Given the description of an element on the screen output the (x, y) to click on. 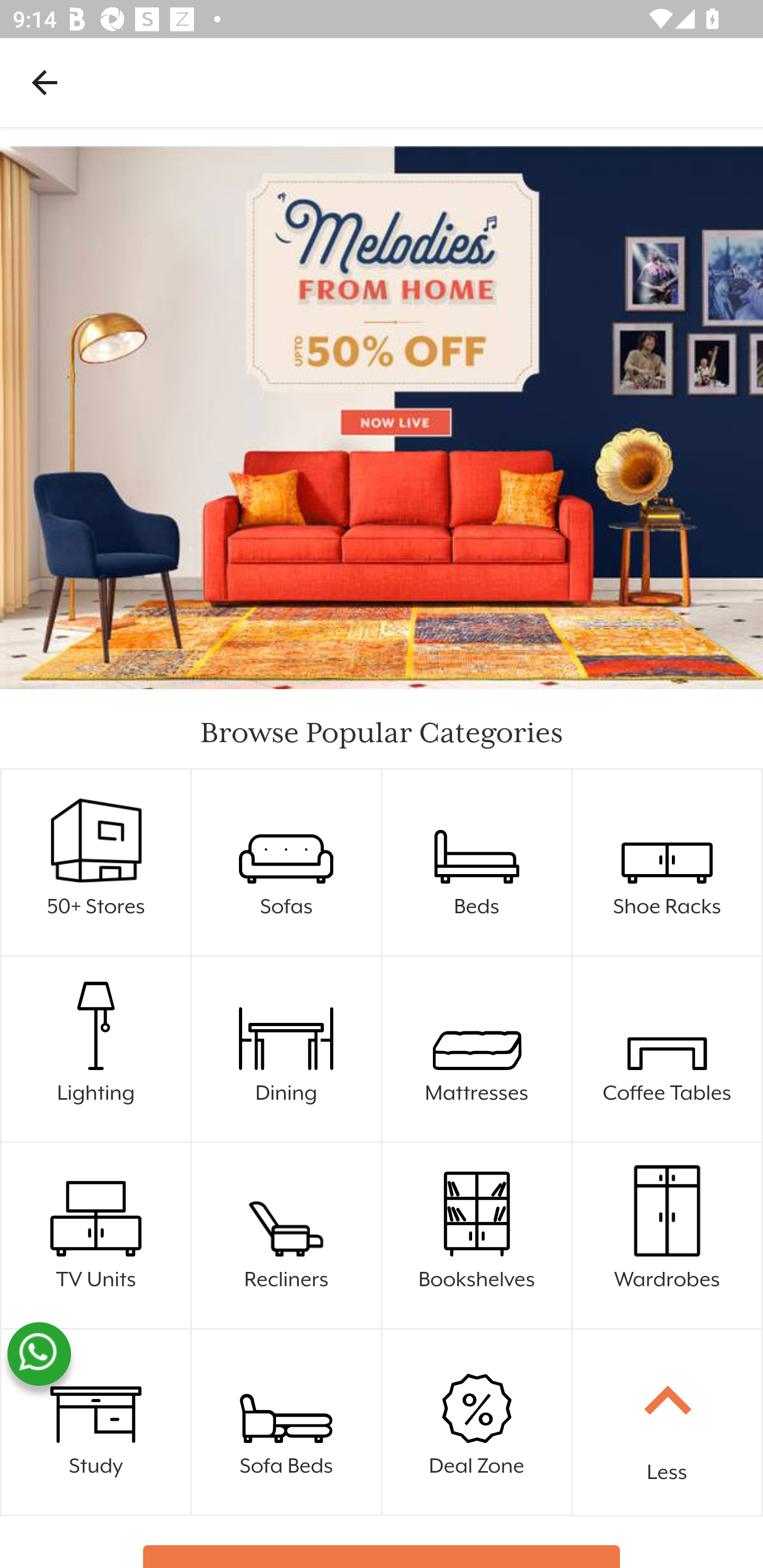
Navigate up (44, 82)
event sale (381, 417)
50+ Stores 50+ Stores 50+ Stores 50+ Stores (96, 862)
Sofas (286, 862)
Beds (477, 862)
Shoe Racks (667, 862)
50+ Stores (95, 836)
Lighting (96, 1049)
Dining (286, 1049)
Mattresses (477, 1049)
Coffee Tables (667, 1049)
TV Units (96, 1236)
Recliners Recliners Recliners Recliners (286, 1236)
Bookshelves (477, 1236)
Wardrobes Wardrobes Wardrobes Wardrobes (667, 1236)
Recliners (286, 1209)
Wardrobes (666, 1209)
whatsapp (38, 1353)
Study (96, 1422)
Sofa Beds (286, 1422)
Less (667, 1422)
